Given the description of an element on the screen output the (x, y) to click on. 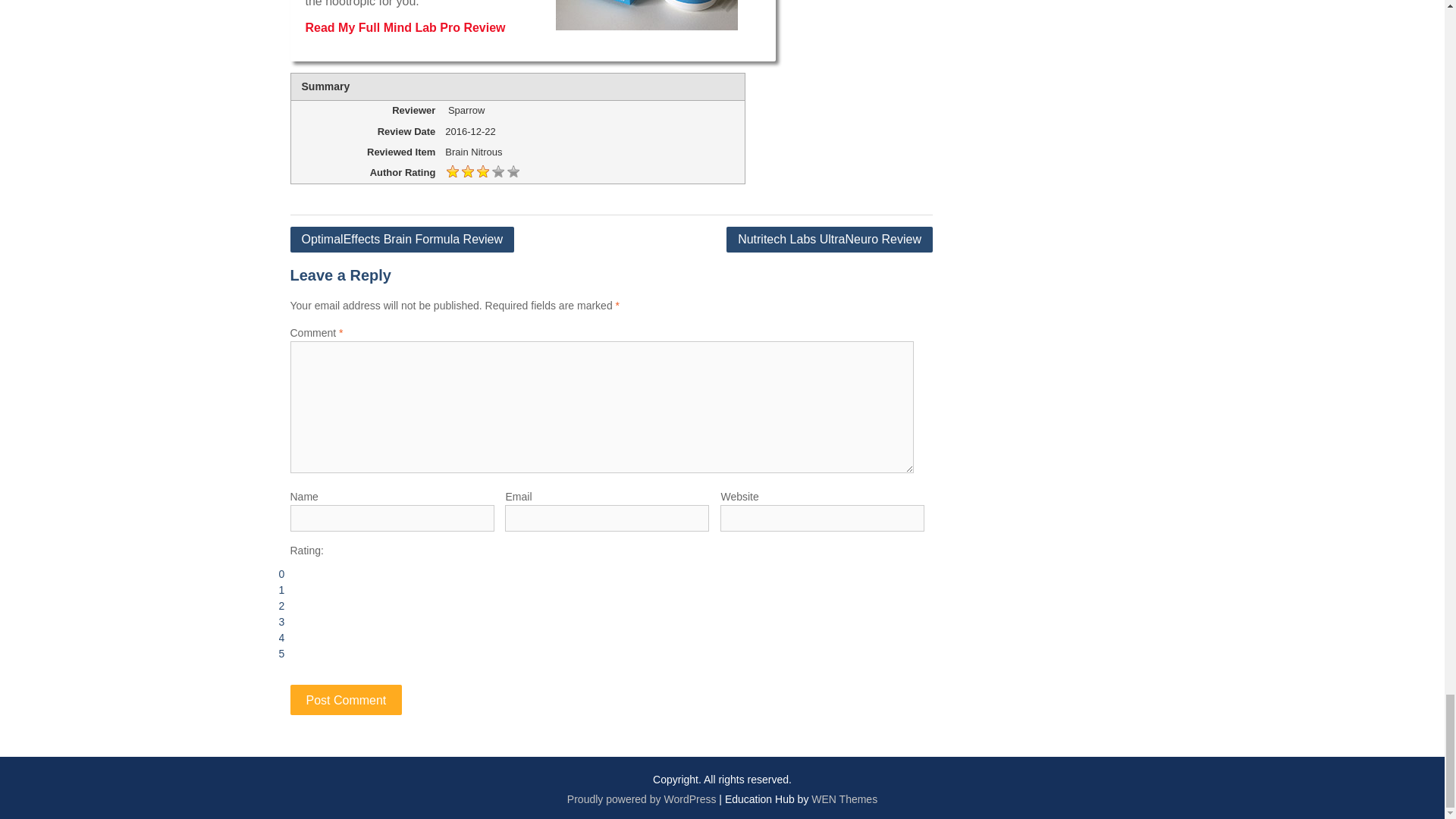
Proudly powered by WordPress (641, 799)
Read My Full Mind Lab Pro Review (404, 27)
Post Comment (345, 699)
OptimalEffects Brain Formula Review (401, 239)
WEN Themes (843, 799)
Nutritech Labs UltraNeuro Review (829, 239)
Post Comment (345, 699)
